Given the description of an element on the screen output the (x, y) to click on. 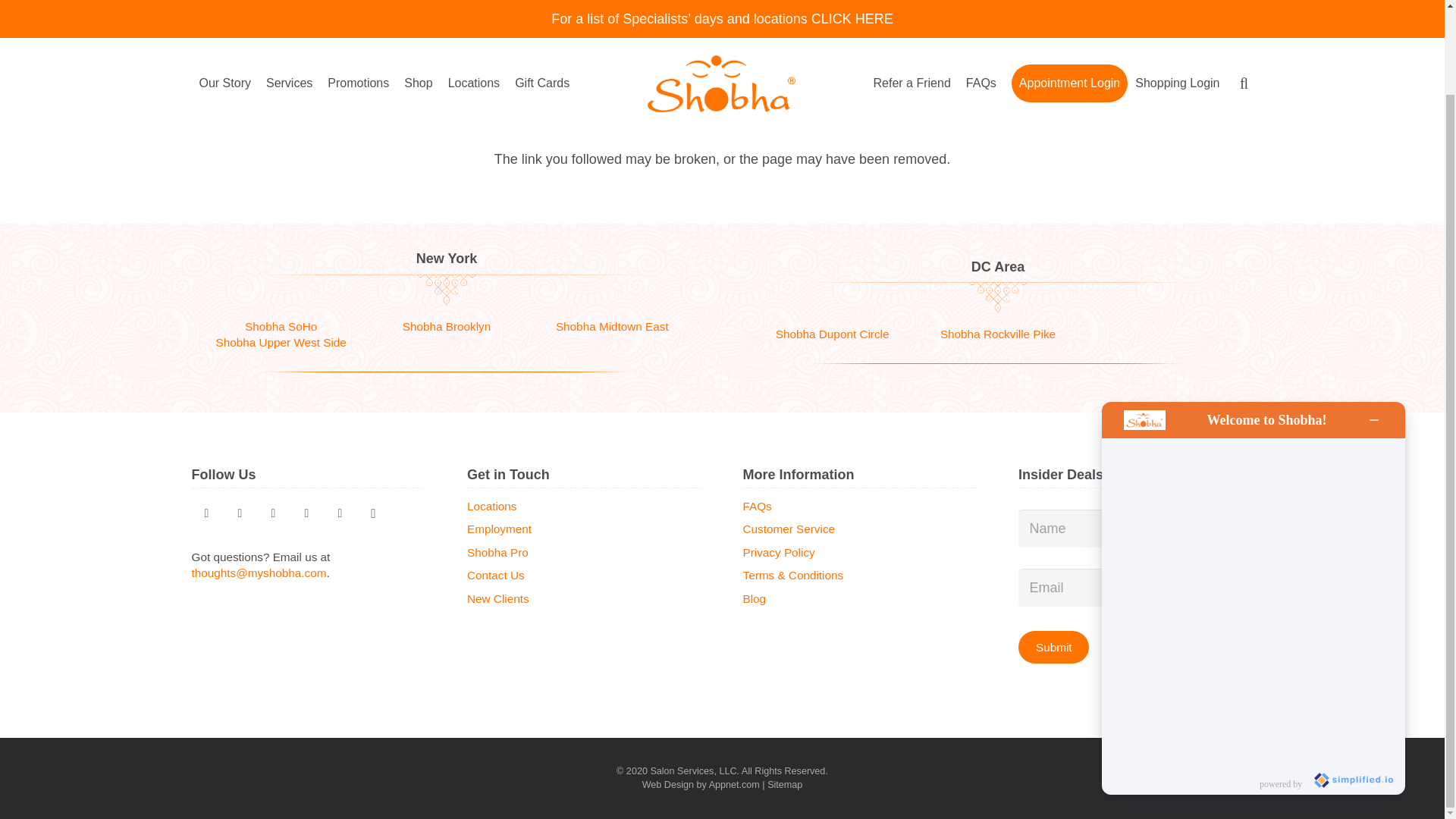
YouTube (306, 512)
Twitter (205, 512)
Pinterest (239, 512)
Shop (417, 3)
Refer a Friend (912, 3)
Gift Cards (541, 3)
Instagram (373, 512)
Blog (272, 512)
Welcome to Shobha! (1266, 324)
FAQs (981, 3)
